Given the description of an element on the screen output the (x, y) to click on. 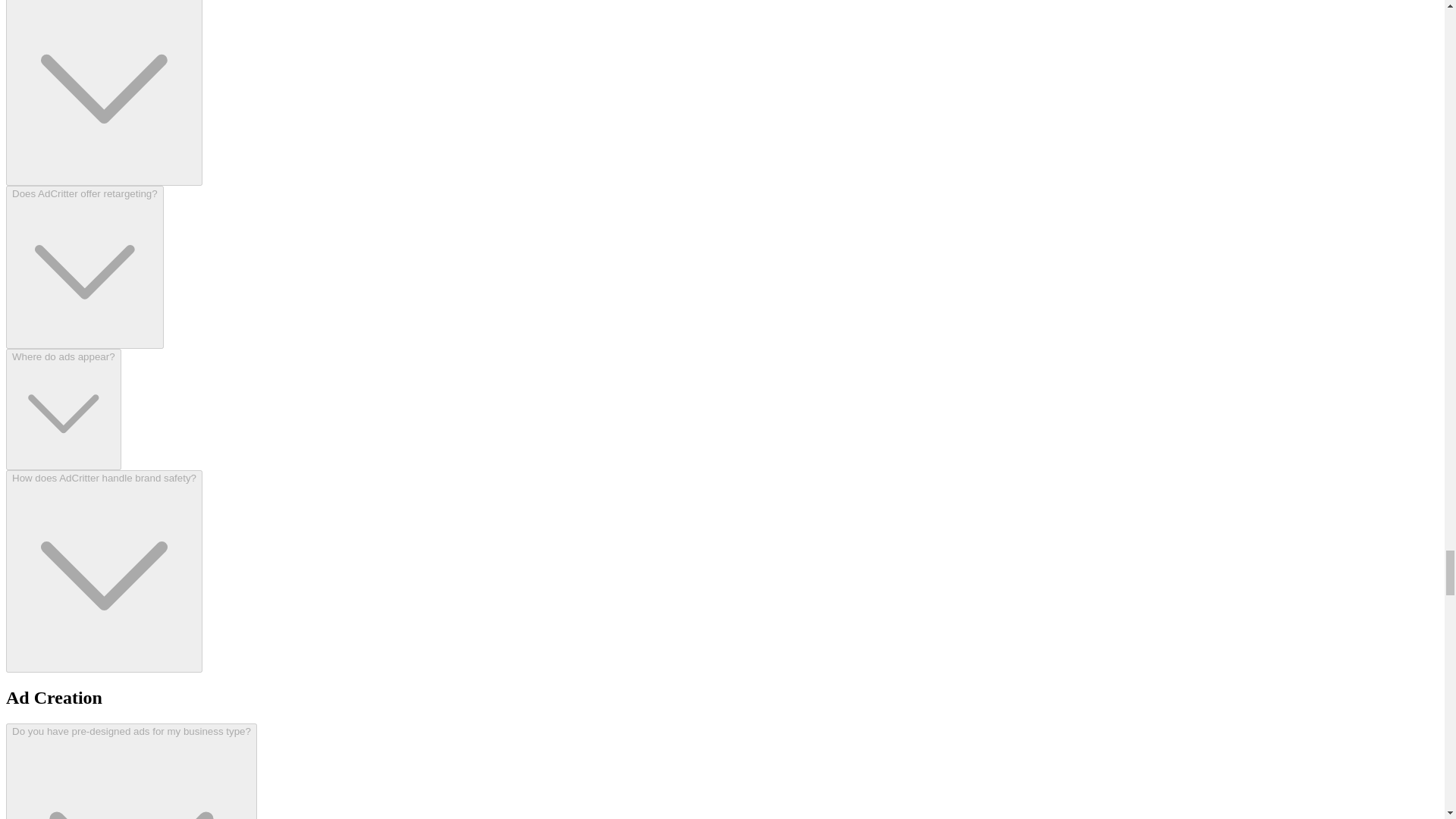
How does AdCritter handle brand safety? (103, 571)
Do you have pre-designed ads for my business type? (131, 771)
Does AdCritter offer conversion tracking? (103, 92)
Where do ads appear? (62, 409)
Does AdCritter offer retargeting? (84, 267)
